Given the description of an element on the screen output the (x, y) to click on. 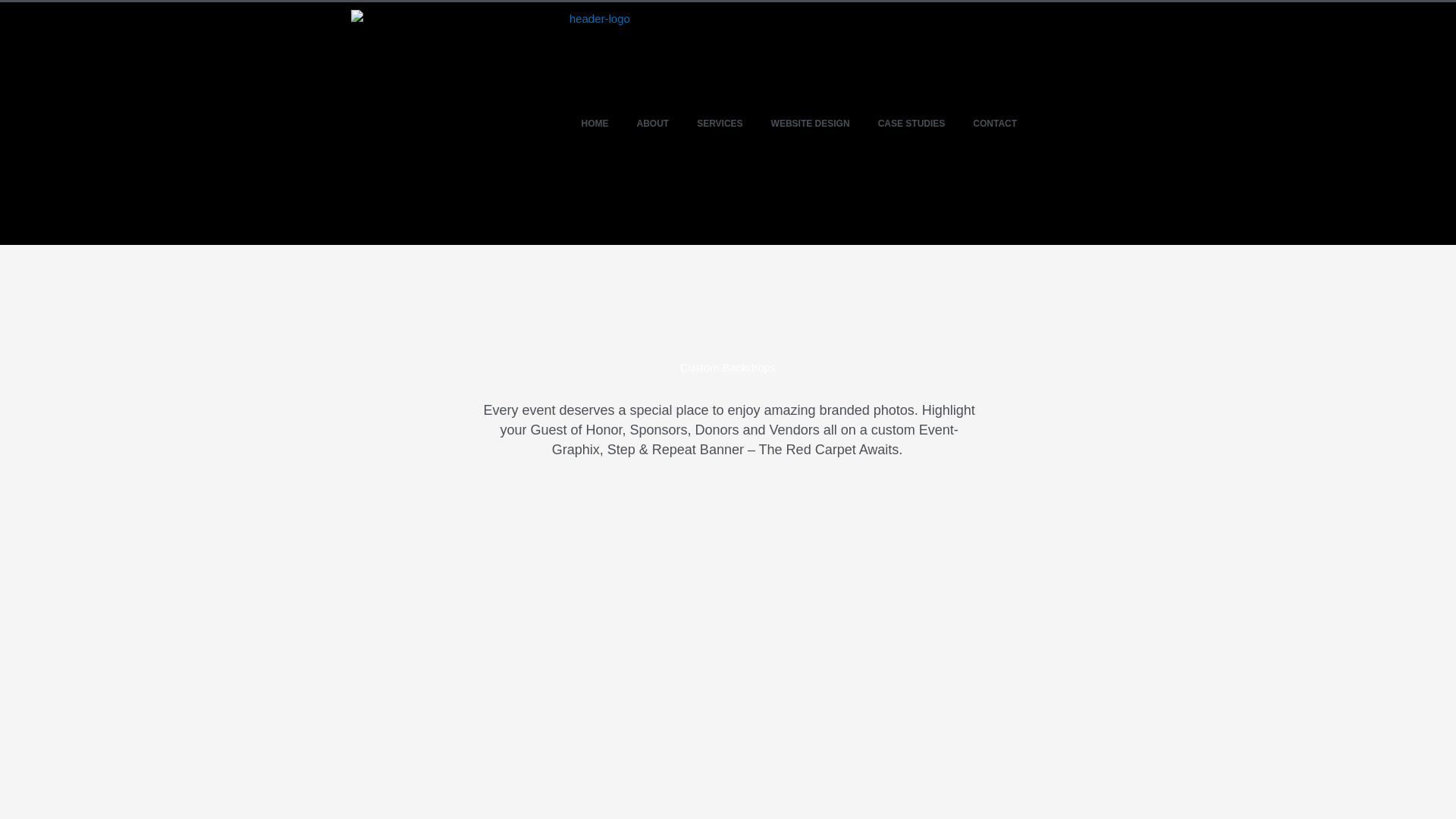
SERVICES (719, 123)
CASE STUDIES (911, 123)
ABOUT (651, 123)
CONTACT (993, 123)
HOME (594, 123)
WEBSITE DESIGN (810, 123)
